Given the description of an element on the screen output the (x, y) to click on. 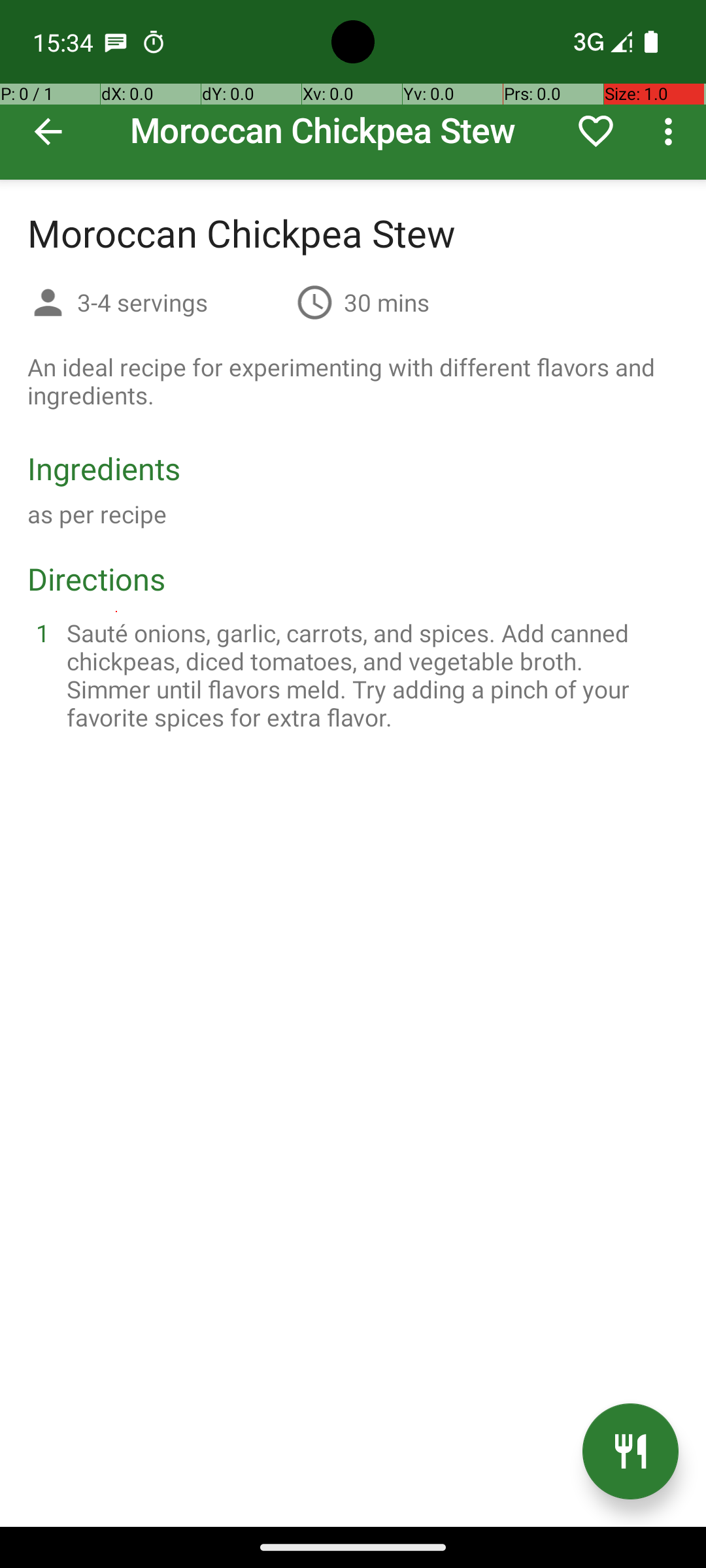
Sauté onions, garlic, carrots, and spices. Add canned chickpeas, diced tomatoes, and vegetable broth. Simmer until flavors meld. Try adding a pinch of your favorite spices for extra flavor. Element type: android.widget.TextView (368, 674)
